Given the description of an element on the screen output the (x, y) to click on. 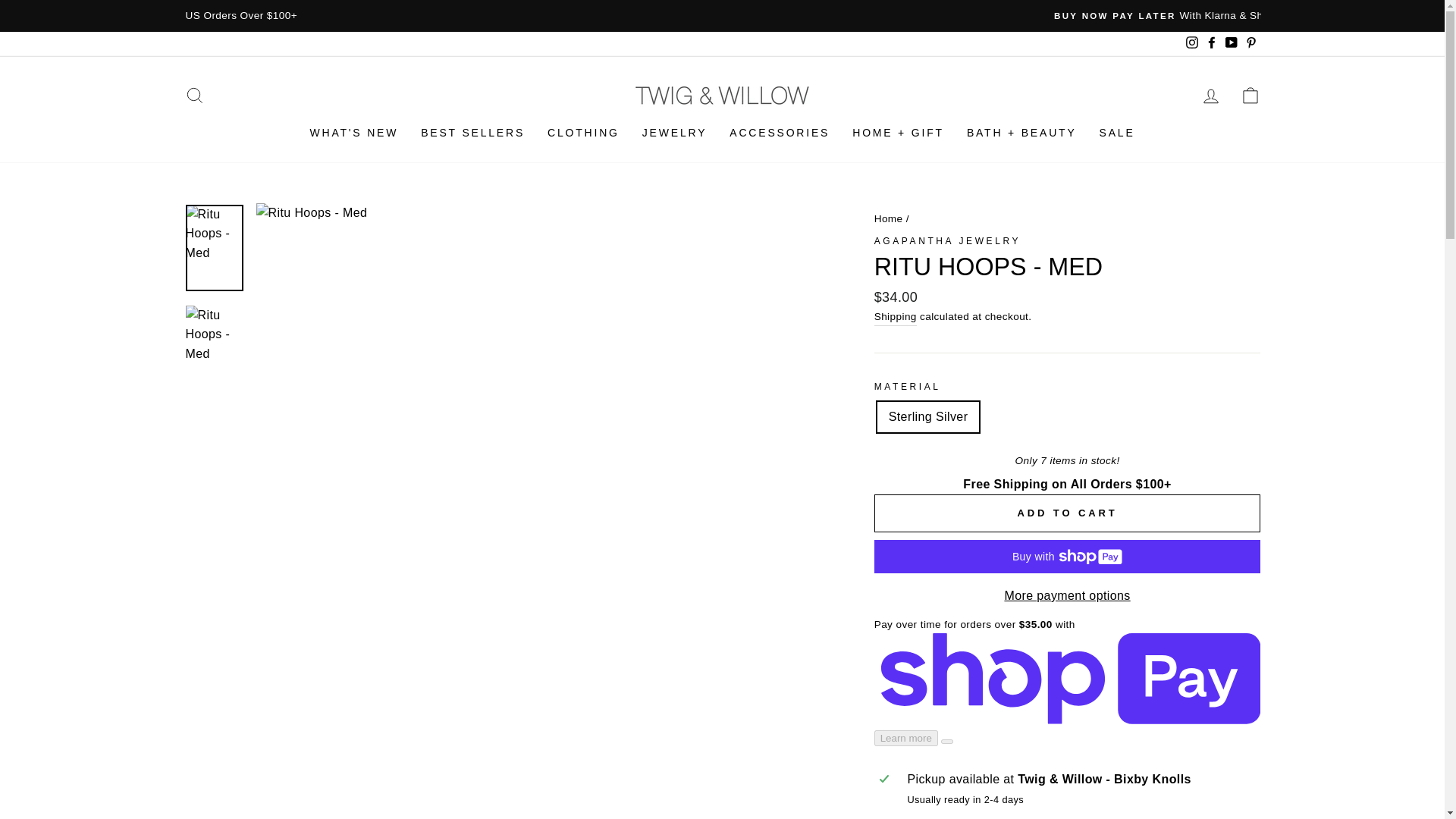
Back to the frontpage (888, 217)
Agapantha Jewelry (947, 240)
